Given the description of an element on the screen output the (x, y) to click on. 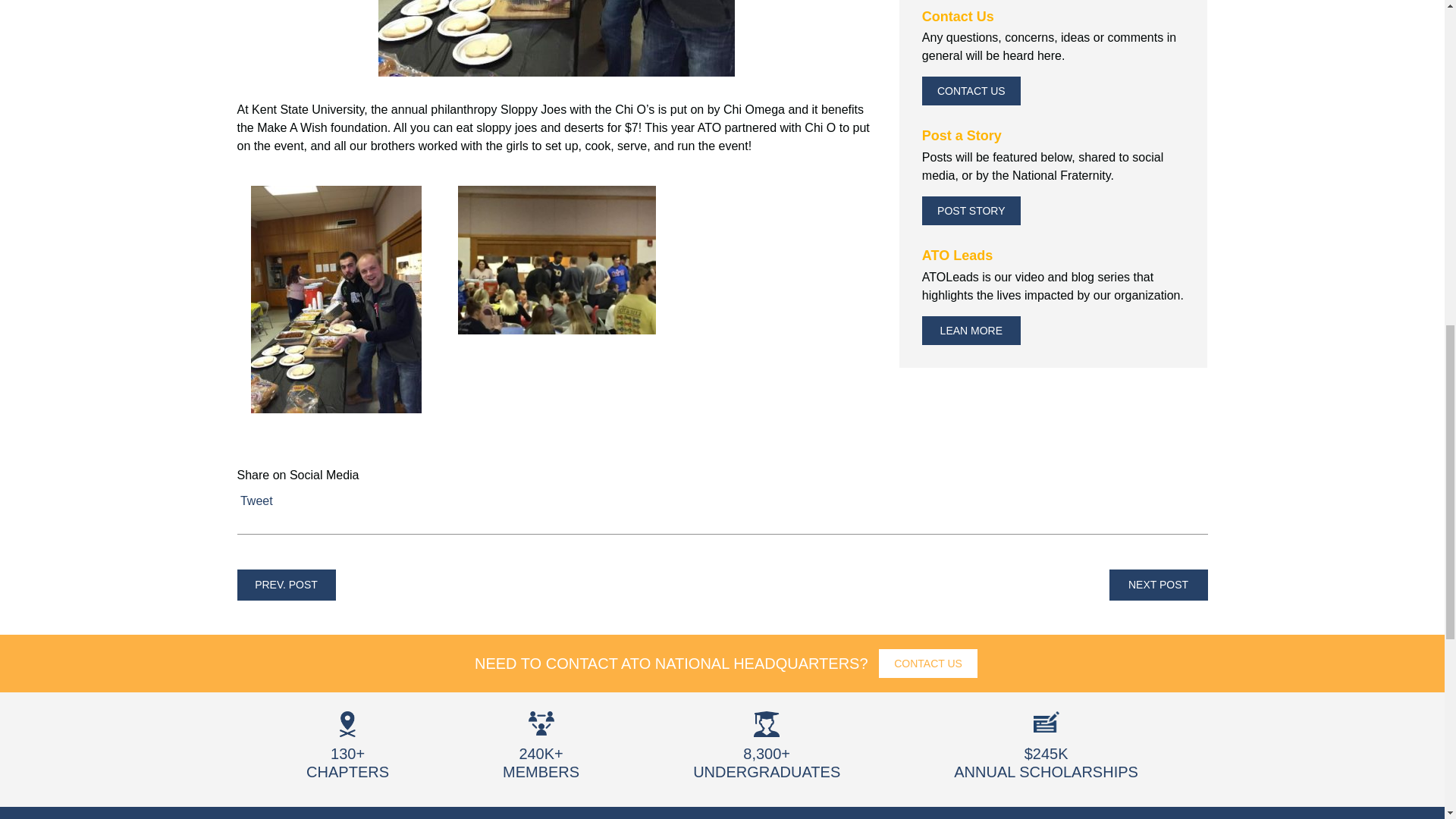
Contact Us (970, 90)
CONTACT US (970, 90)
LEAN MORE (970, 330)
Lean More (970, 330)
Tweet (256, 500)
POST STORY (970, 210)
PREV. POST (284, 584)
Post Story (970, 210)
CONTACT US (927, 663)
NEXT POST (1157, 584)
